Given the description of an element on the screen output the (x, y) to click on. 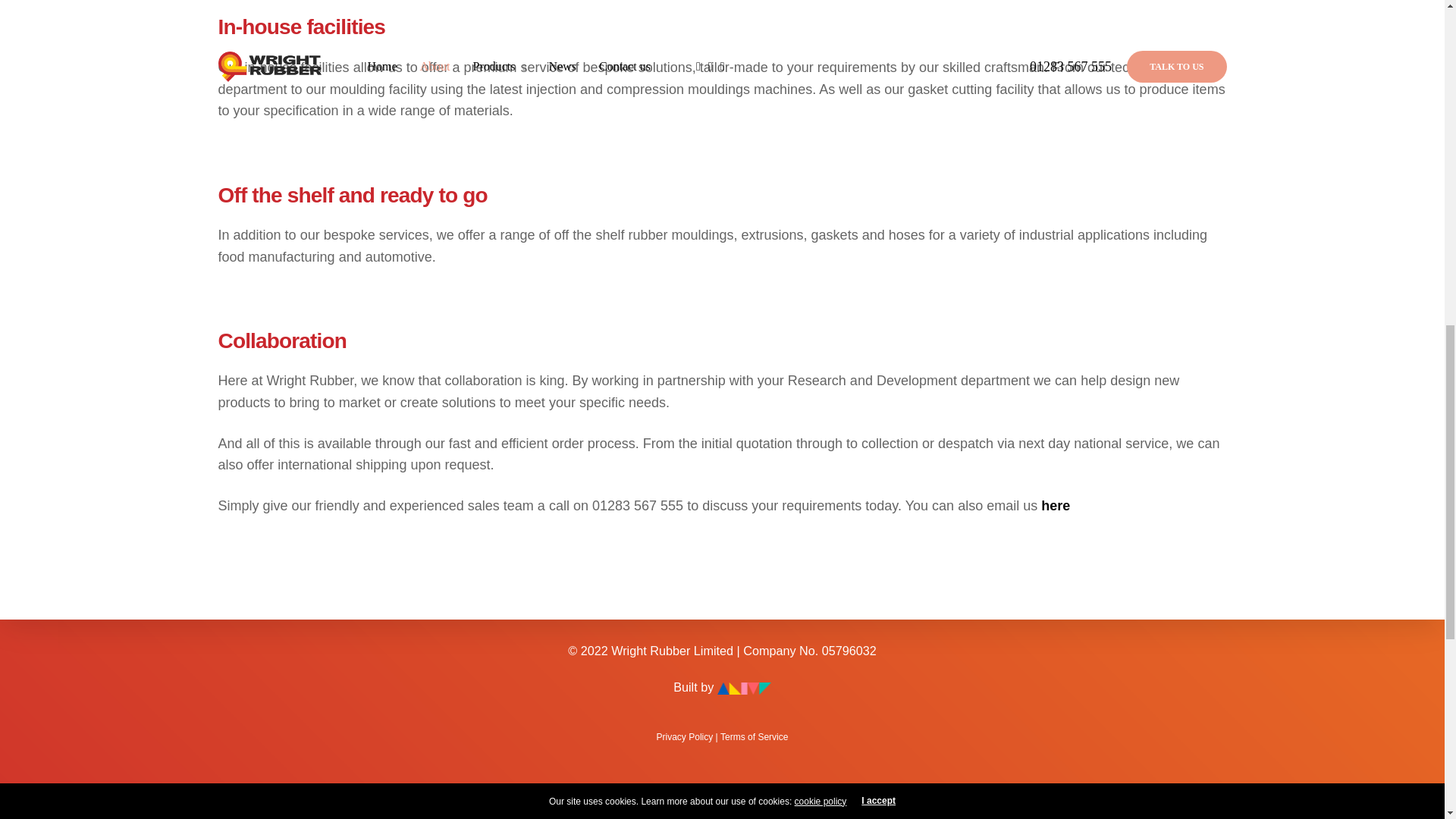
here (1055, 505)
Scroll To Top (1420, 25)
